Given the description of an element on the screen output the (x, y) to click on. 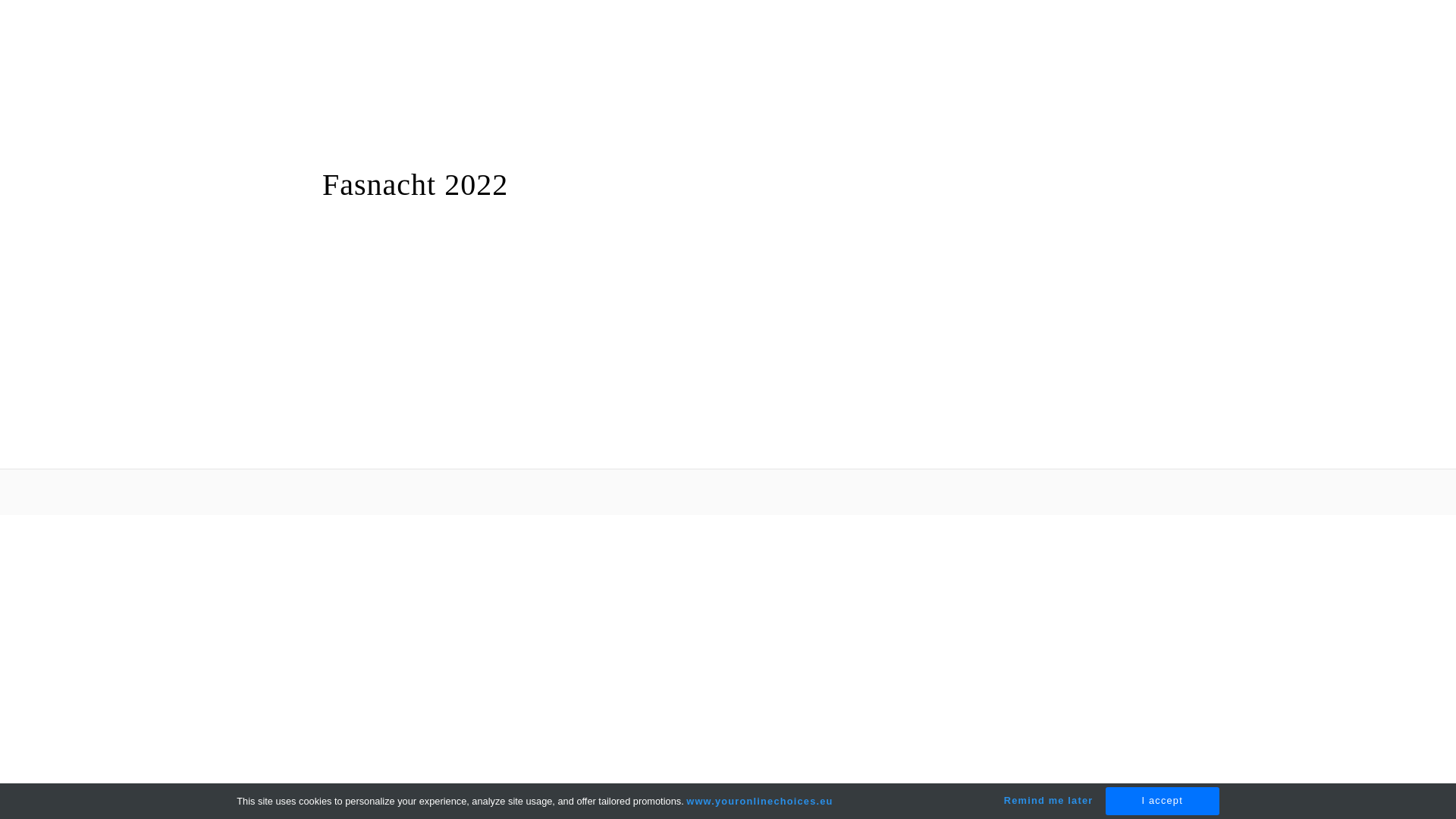
I accept Element type: text (1162, 801)
Remind me later Element type: text (1048, 800)
www.youronlinechoices.eu Element type: text (759, 800)
